Given the description of an element on the screen output the (x, y) to click on. 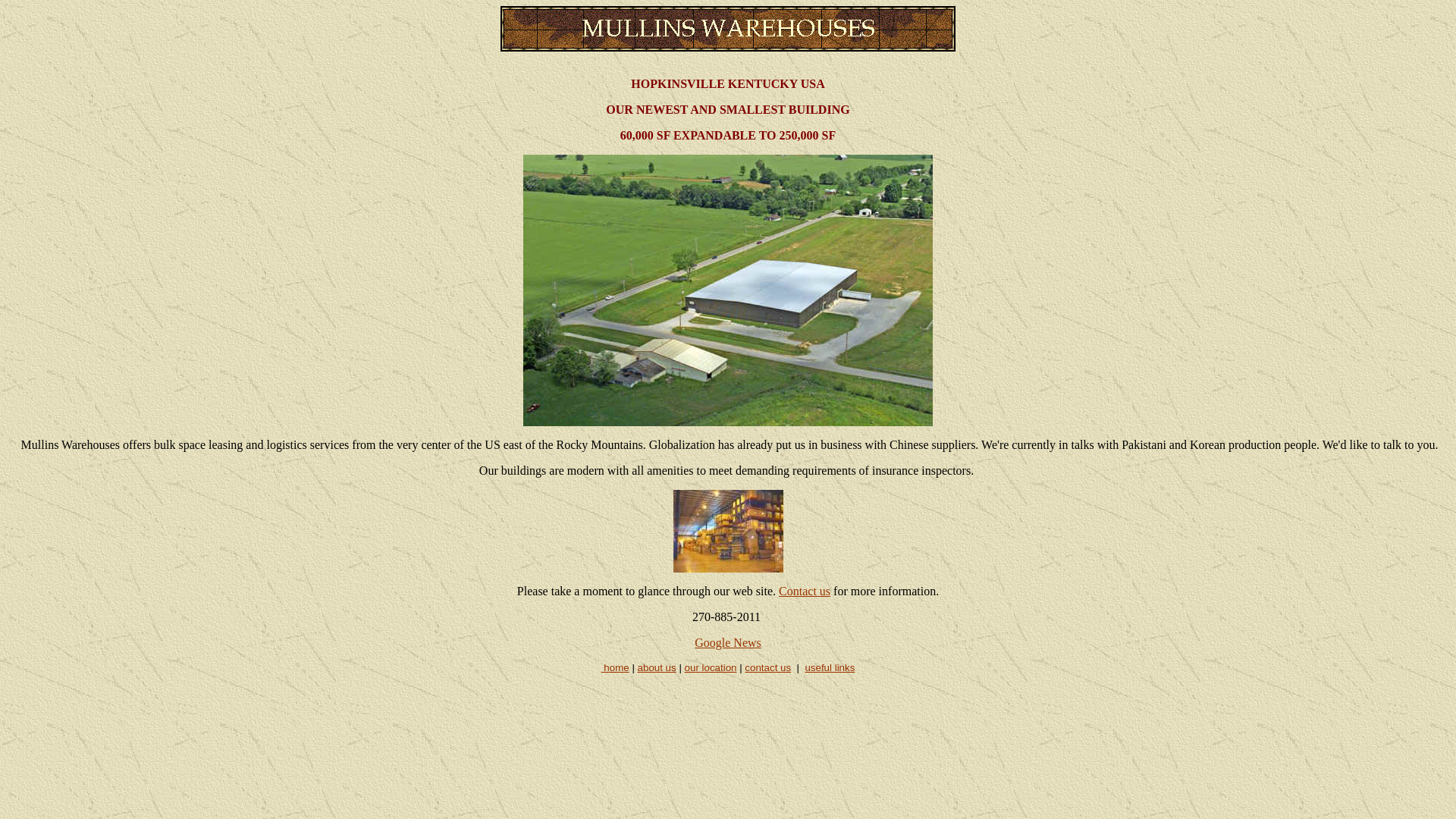
our location (710, 667)
contact us (767, 667)
useful links (829, 667)
 home (614, 667)
Google News (727, 642)
about us (657, 667)
Contact us (803, 590)
